Given the description of an element on the screen output the (x, y) to click on. 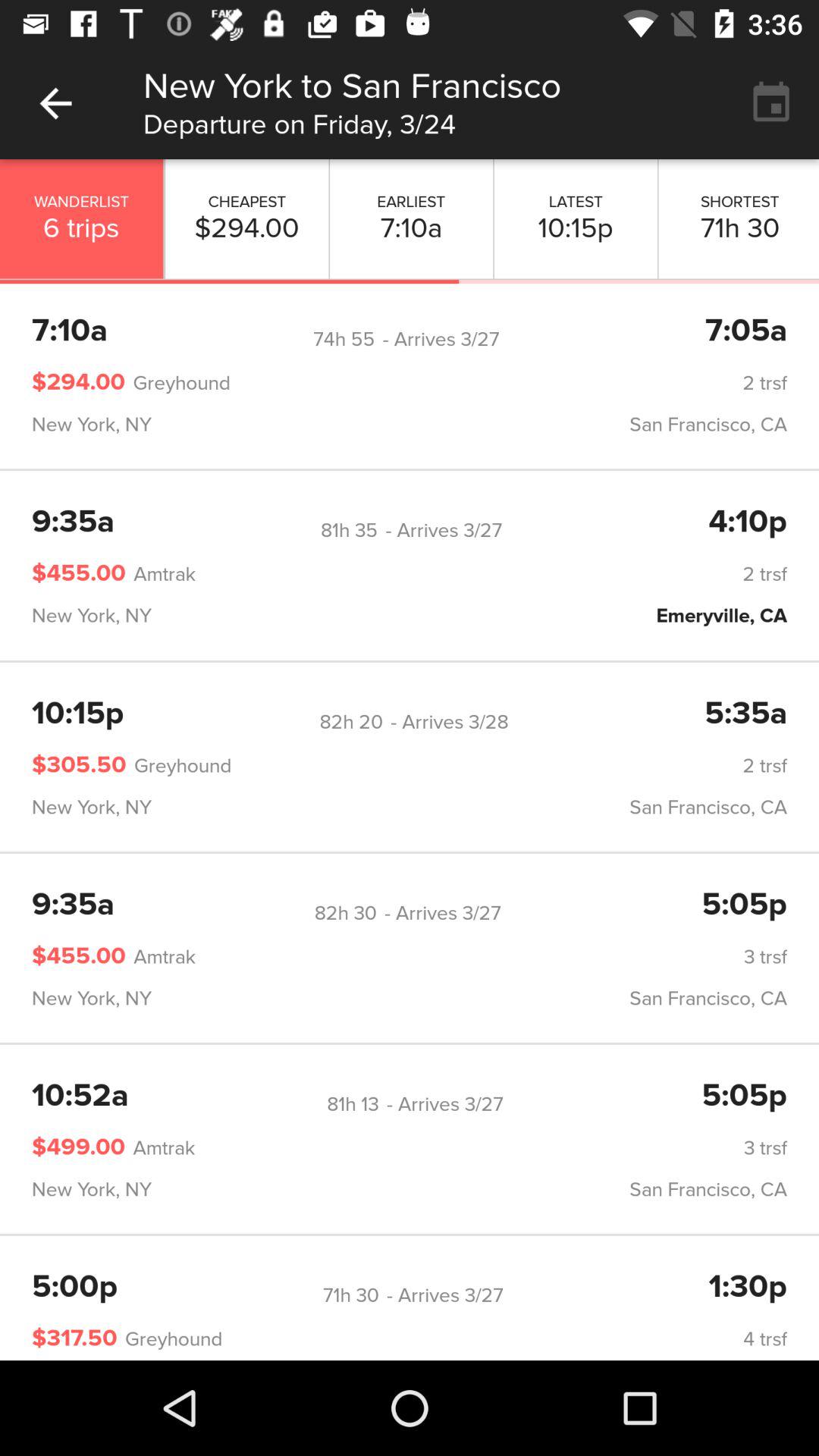
back button (55, 103)
